Given the description of an element on the screen output the (x, y) to click on. 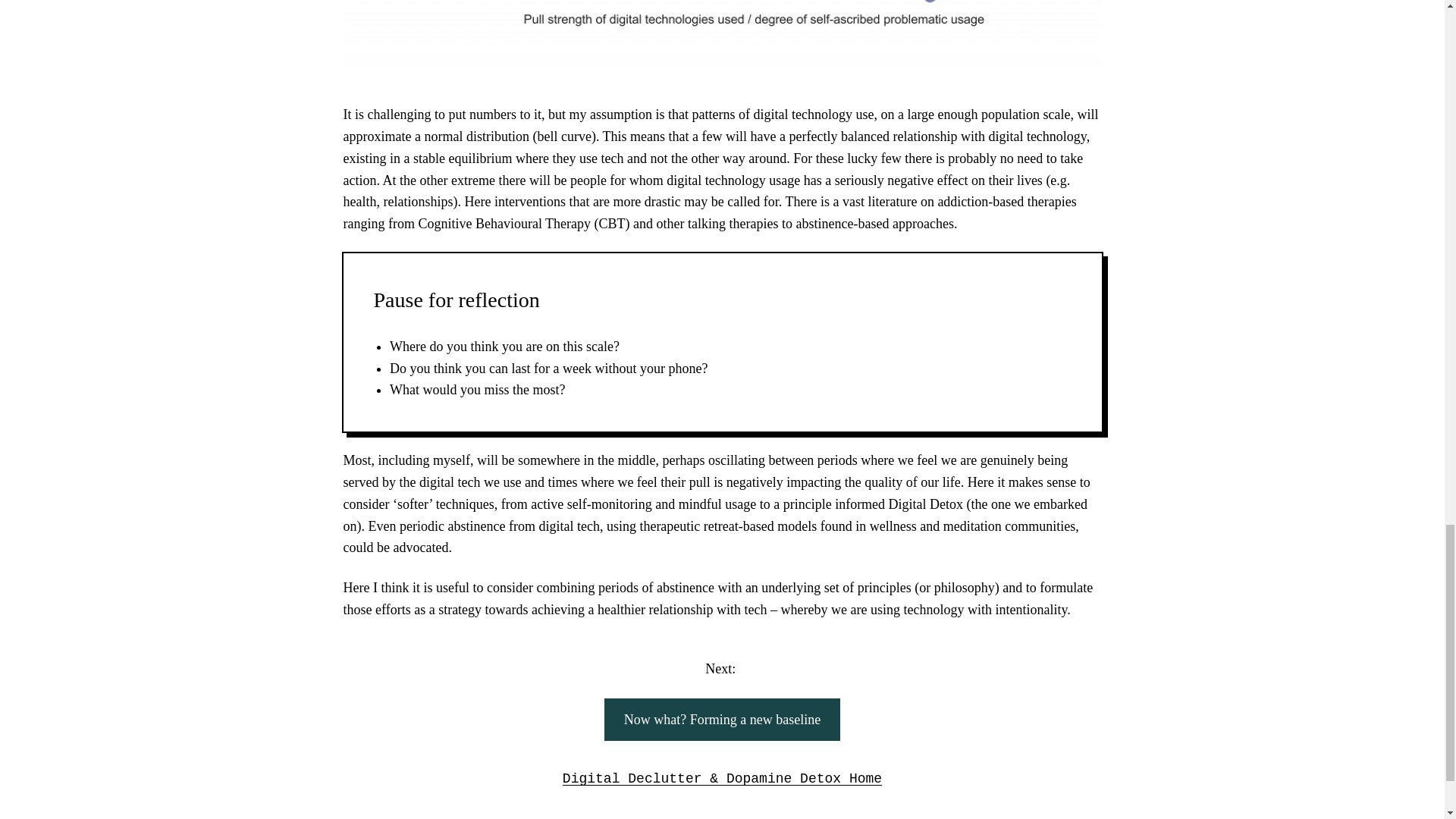
Now what? Forming a new baseline (722, 720)
